Given the description of an element on the screen output the (x, y) to click on. 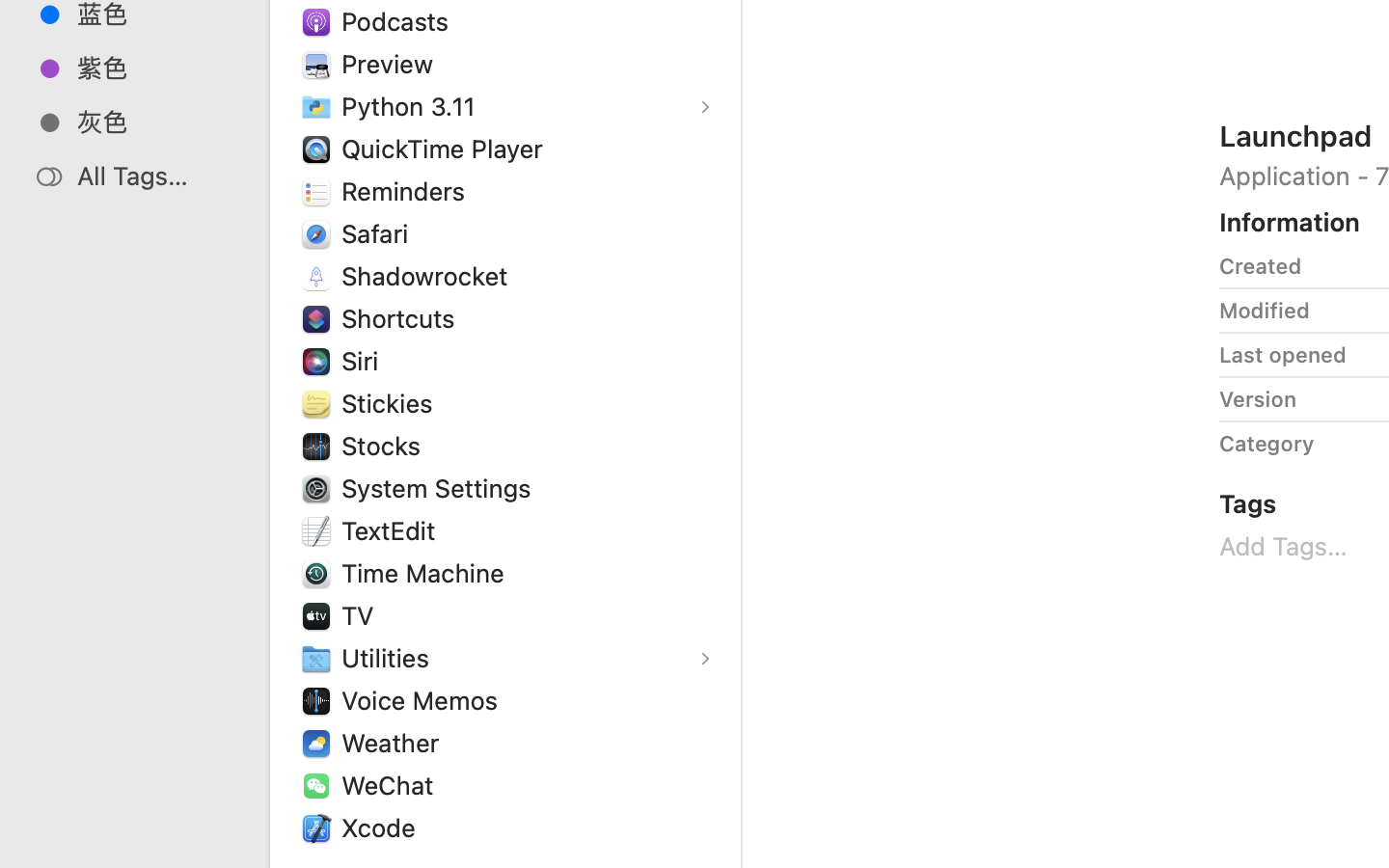
Python 3.11 Element type: AXTextField (412, 105)
Preview Element type: AXTextField (391, 63)
Applications Element type: AXStaticText (875, 786)
Information Element type: AXStaticText (1289, 221)
Safari Element type: AXTextField (378, 232)
